Given the description of an element on the screen output the (x, y) to click on. 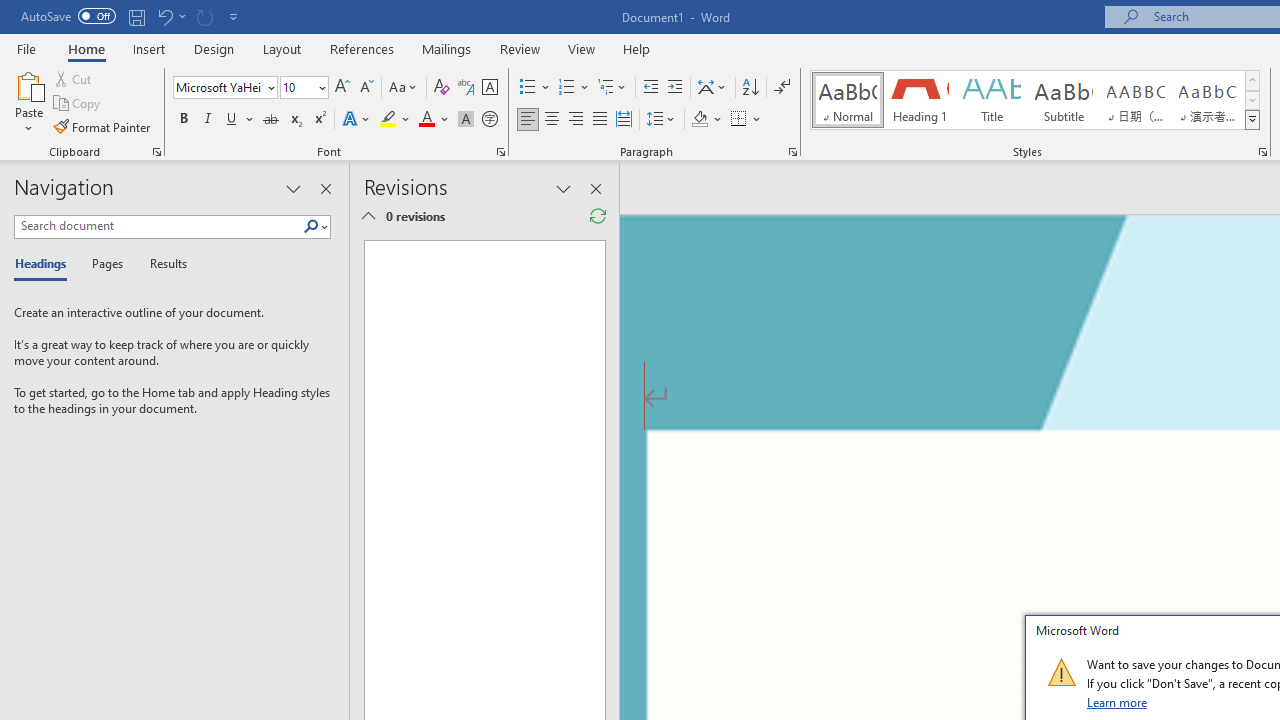
Enclose Characters... (489, 119)
Customize Quick Access Toolbar (234, 15)
Pages (105, 264)
Character Border (489, 87)
Search (315, 227)
Borders (746, 119)
Paragraph... (792, 151)
Subtitle (1063, 100)
Undo Paragraph Alignment (164, 15)
Open (320, 87)
Paste (28, 84)
View (582, 48)
Shading RGB(0, 0, 0) (699, 119)
Numbering (573, 87)
